Given the description of an element on the screen output the (x, y) to click on. 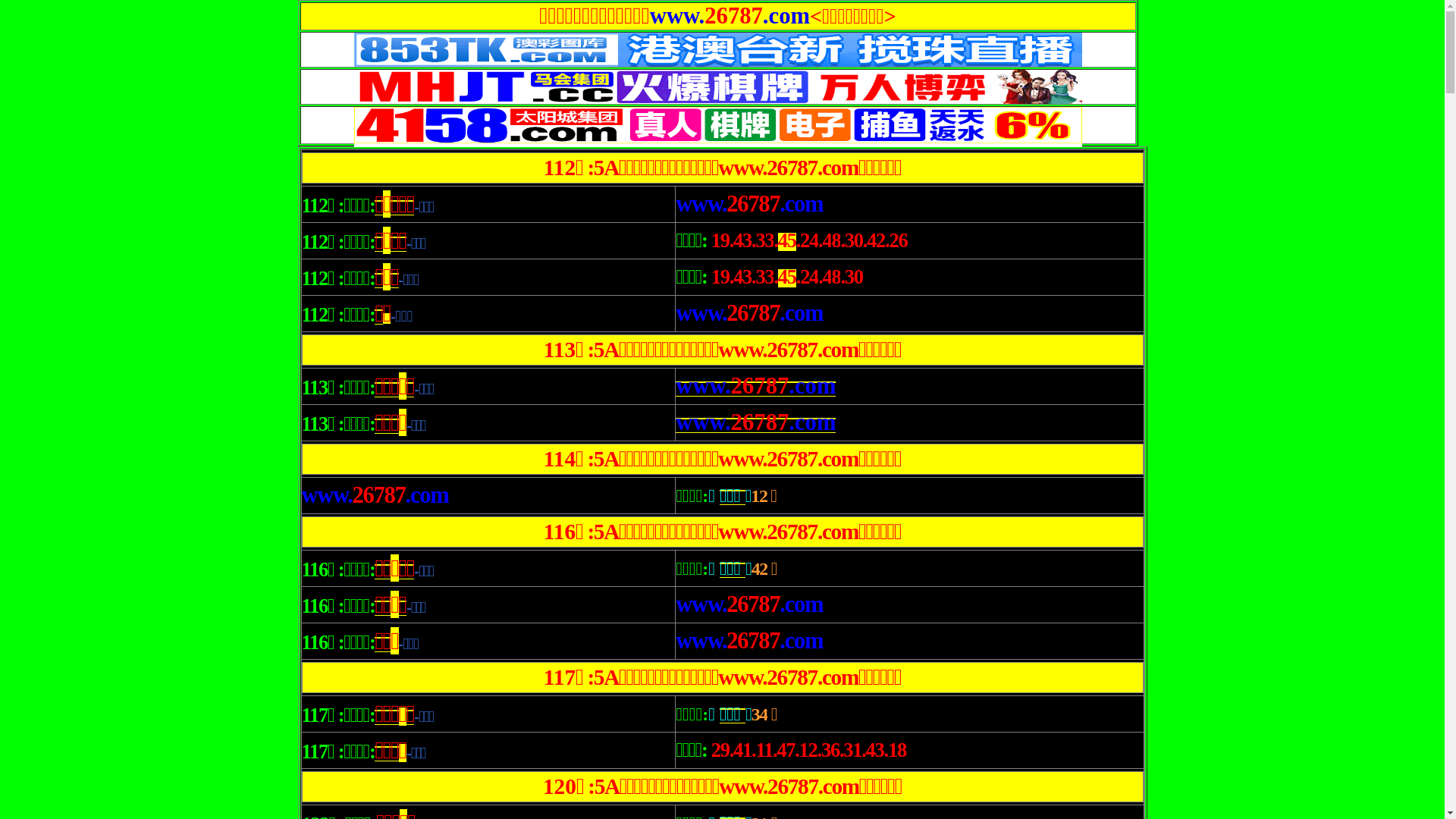
www.26787.com Element type: text (755, 385)
< Element type: text (815, 20)
www.26787.com Element type: text (755, 422)
www.26787.com Element type: text (374, 495)
www.26787.com Element type: text (748, 604)
www.26787.com Element type: text (729, 15)
www.26787.com Element type: text (748, 640)
www.26787.com Element type: text (748, 203)
www.26787.com Element type: text (748, 313)
> Element type: text (890, 20)
